Given the description of an element on the screen output the (x, y) to click on. 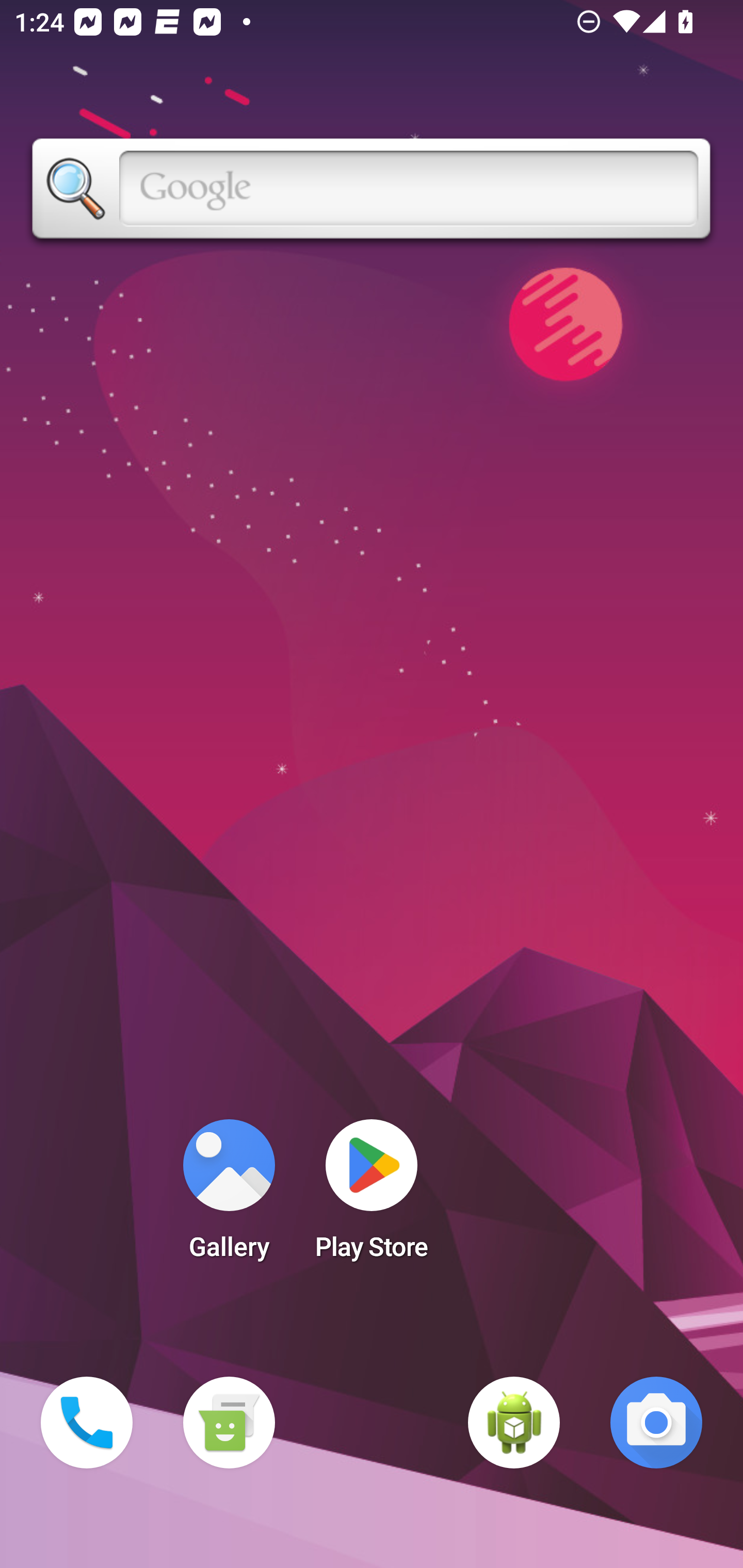
Gallery (228, 1195)
Play Store (371, 1195)
Phone (86, 1422)
Messaging (228, 1422)
WebView Browser Tester (513, 1422)
Camera (656, 1422)
